Given the description of an element on the screen output the (x, y) to click on. 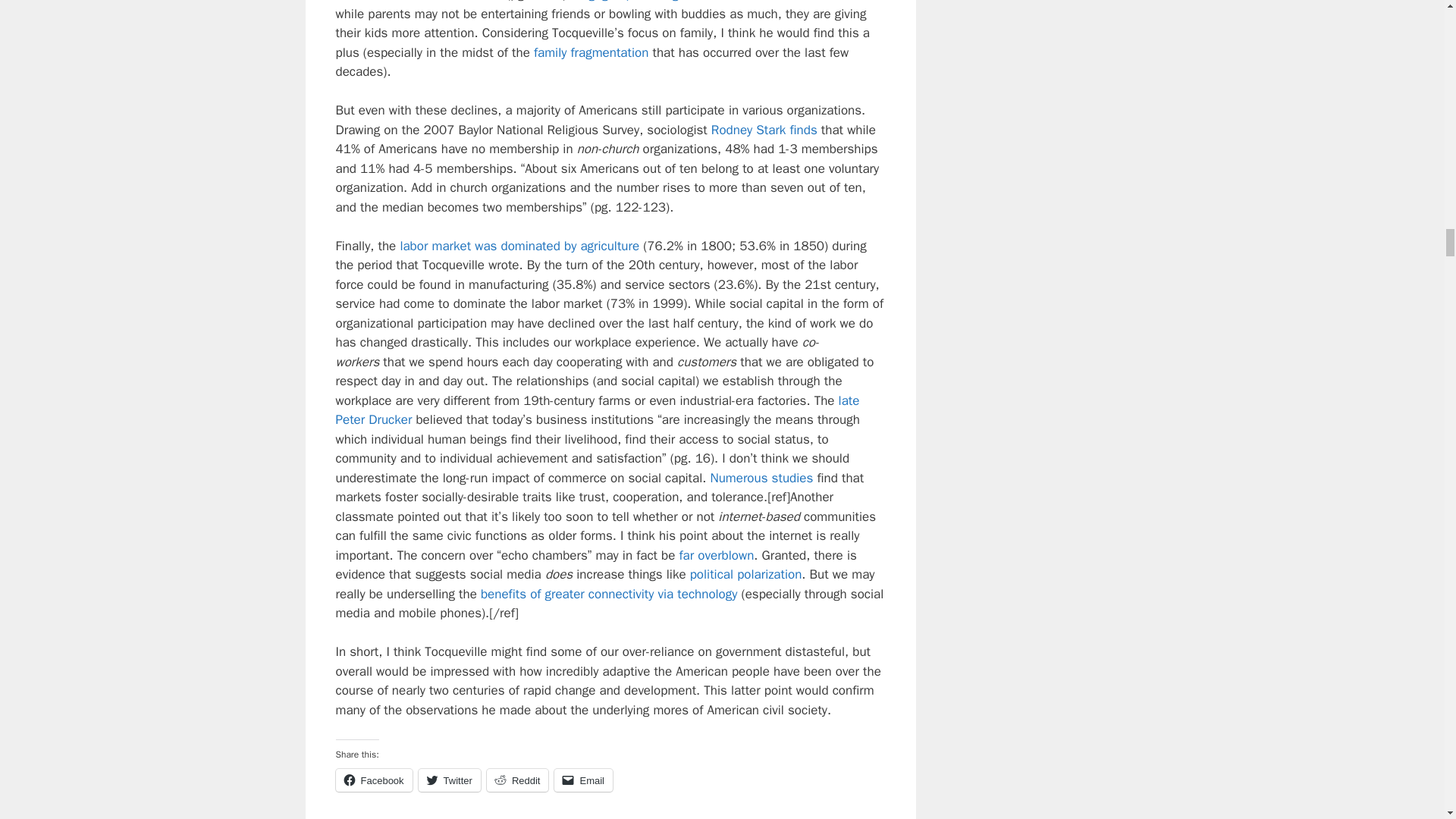
Click to share on Reddit (517, 780)
Click to share on Facebook (373, 780)
Click to share on Twitter (449, 780)
Click to email a link to a friend (583, 780)
